Given the description of an element on the screen output the (x, y) to click on. 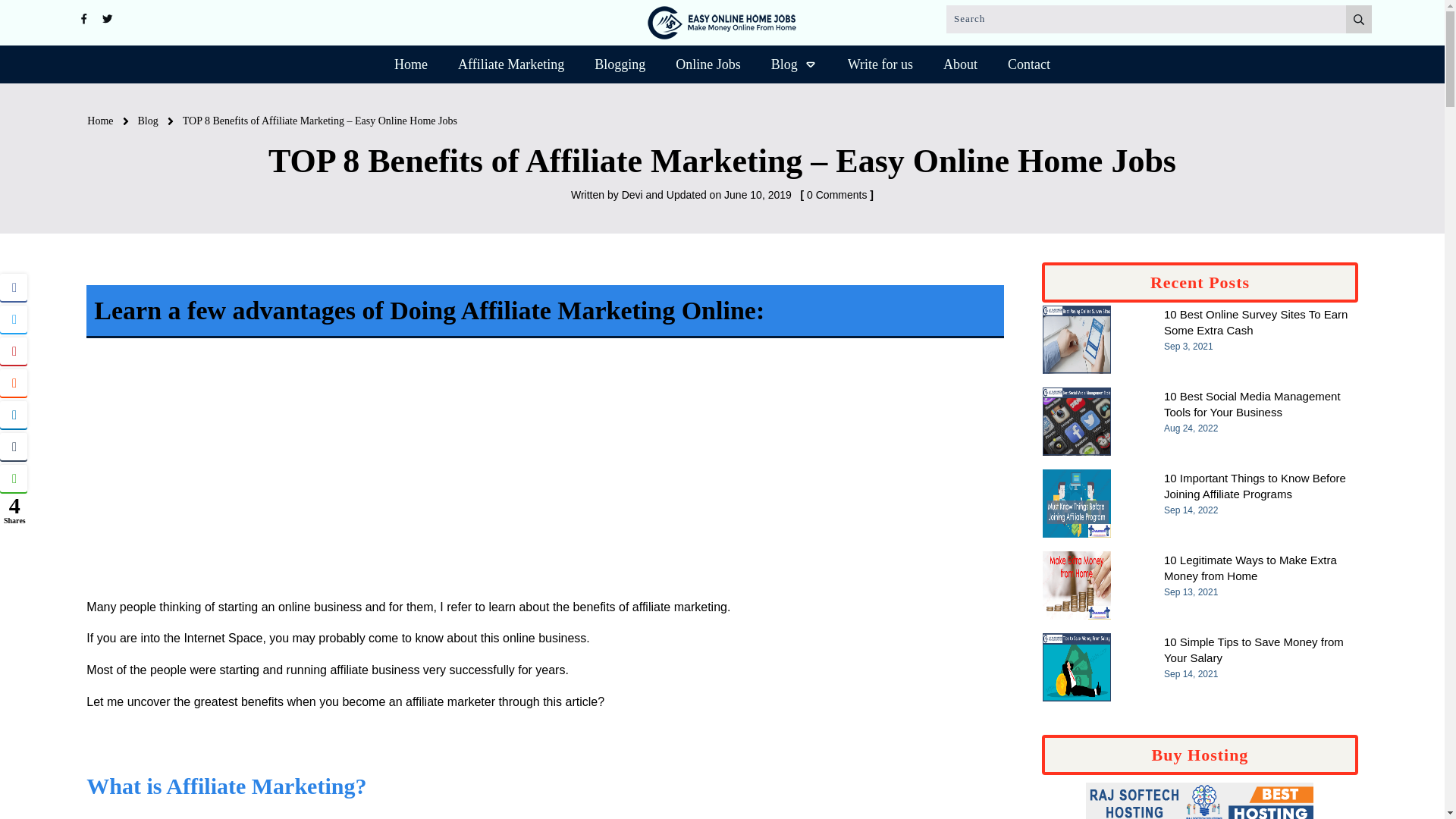
10 Best Online Survey Sites To Earn Some Extra Cash (1255, 321)
Home (100, 121)
Blogging (619, 63)
Affiliate Marketing (511, 63)
10 Legitimate Ways to Make Extra Money from Home (1249, 567)
Online Jobs (708, 63)
Blog (148, 121)
Easy Online Home Jobs (721, 22)
